Given the description of an element on the screen output the (x, y) to click on. 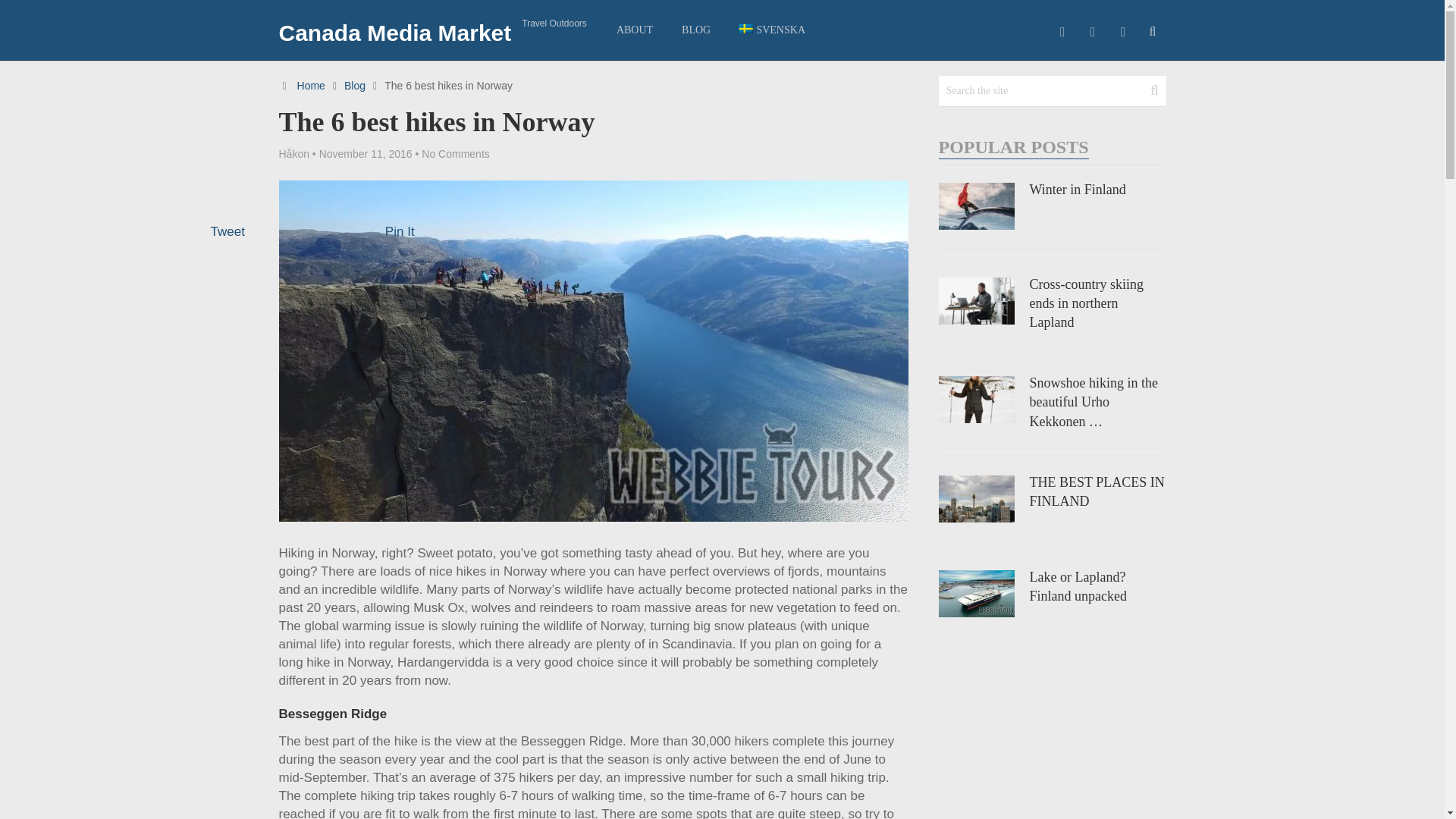
Canada Media Market (395, 33)
BLOG (695, 30)
Cross-country skiing ends in northern Lapland (1052, 303)
Winter in Finland (1052, 189)
Lake or Lapland? Finland unpacked (1052, 587)
SVENSKA (772, 30)
Winter in Finland (1052, 189)
No Comments (455, 153)
Cross-country skiing ends in northern Lapland (1052, 303)
Tweet (227, 231)
THE BEST PLACES IN FINLAND (1052, 492)
Home (310, 85)
ABOUT (634, 30)
Svenska (772, 30)
Pin It (399, 231)
